Given the description of an element on the screen output the (x, y) to click on. 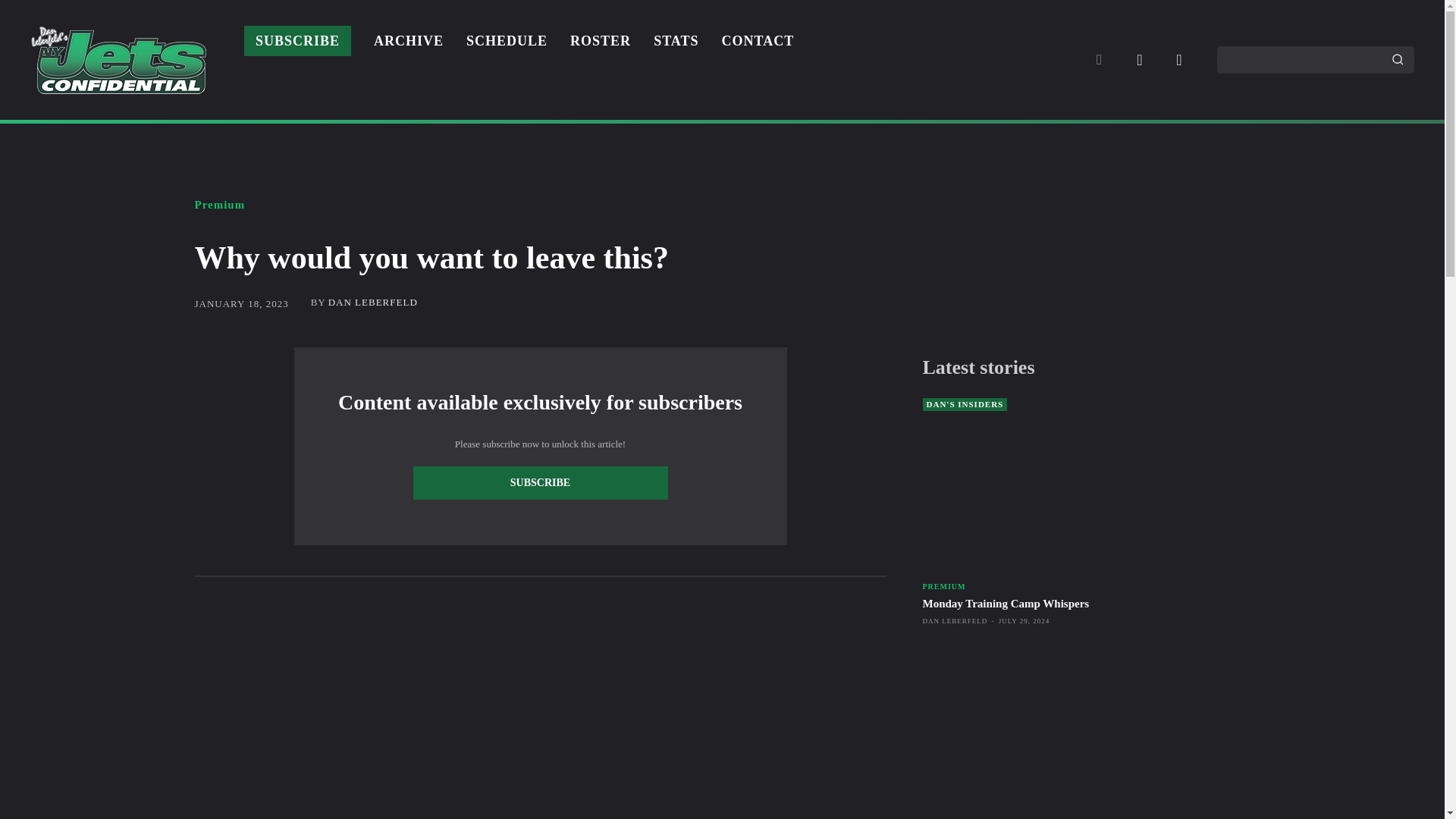
SUBSCRIBE (297, 41)
Jets Confidential (118, 59)
Facebook (1139, 60)
CONTACT (758, 40)
Premium (218, 204)
DAN LEBERFELD (373, 302)
SUBSCRIBE (539, 482)
SCHEDULE (506, 40)
Twitter (1178, 60)
